Given the description of an element on the screen output the (x, y) to click on. 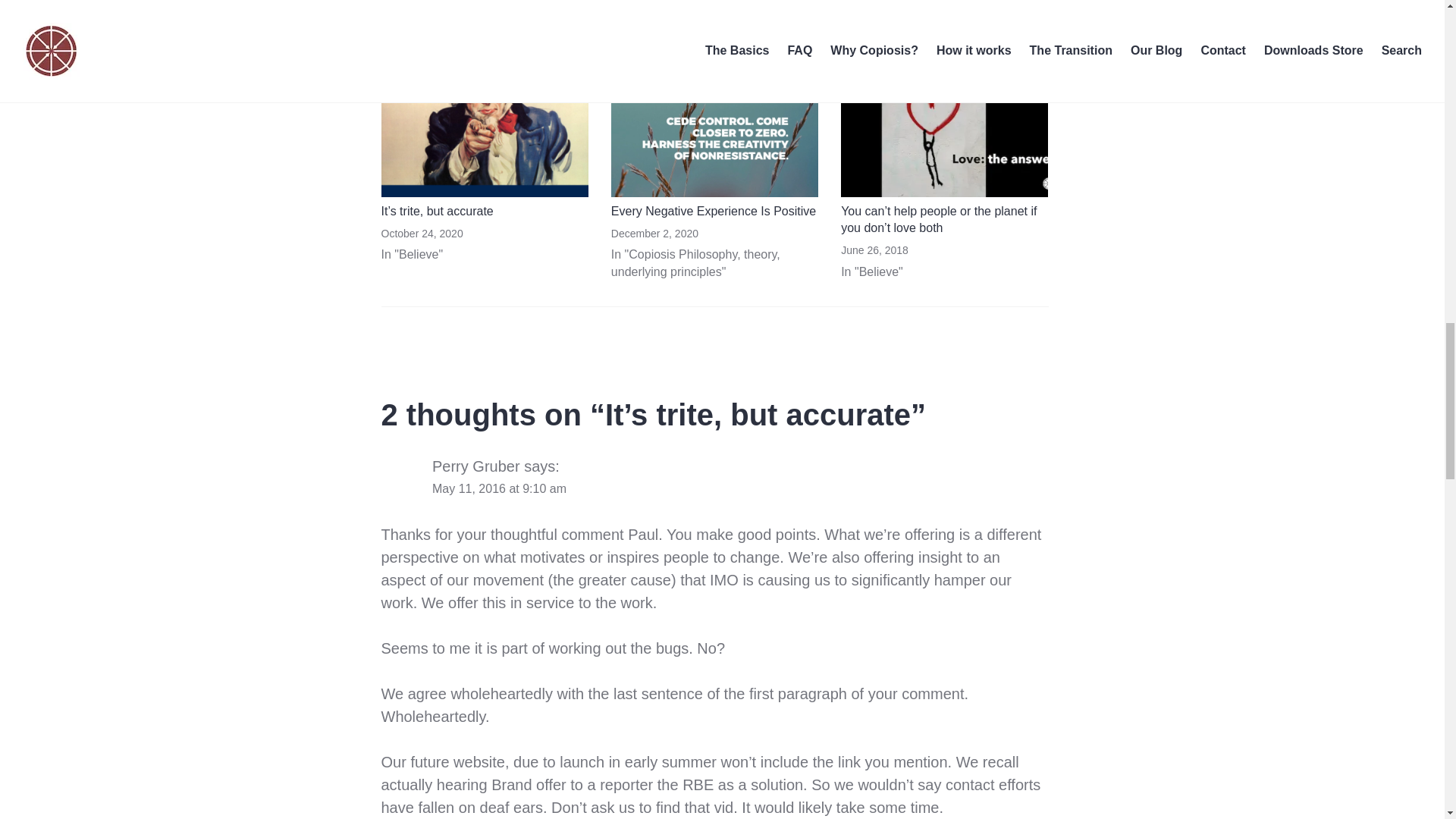
Every Negative Experience Is Positive (713, 210)
Like or Reblog (714, 7)
Every Negative Experience Is Positive (713, 210)
Every Negative Experience Is Positive (714, 137)
May 11, 2016 at 9:10 am (499, 488)
